Given the description of an element on the screen output the (x, y) to click on. 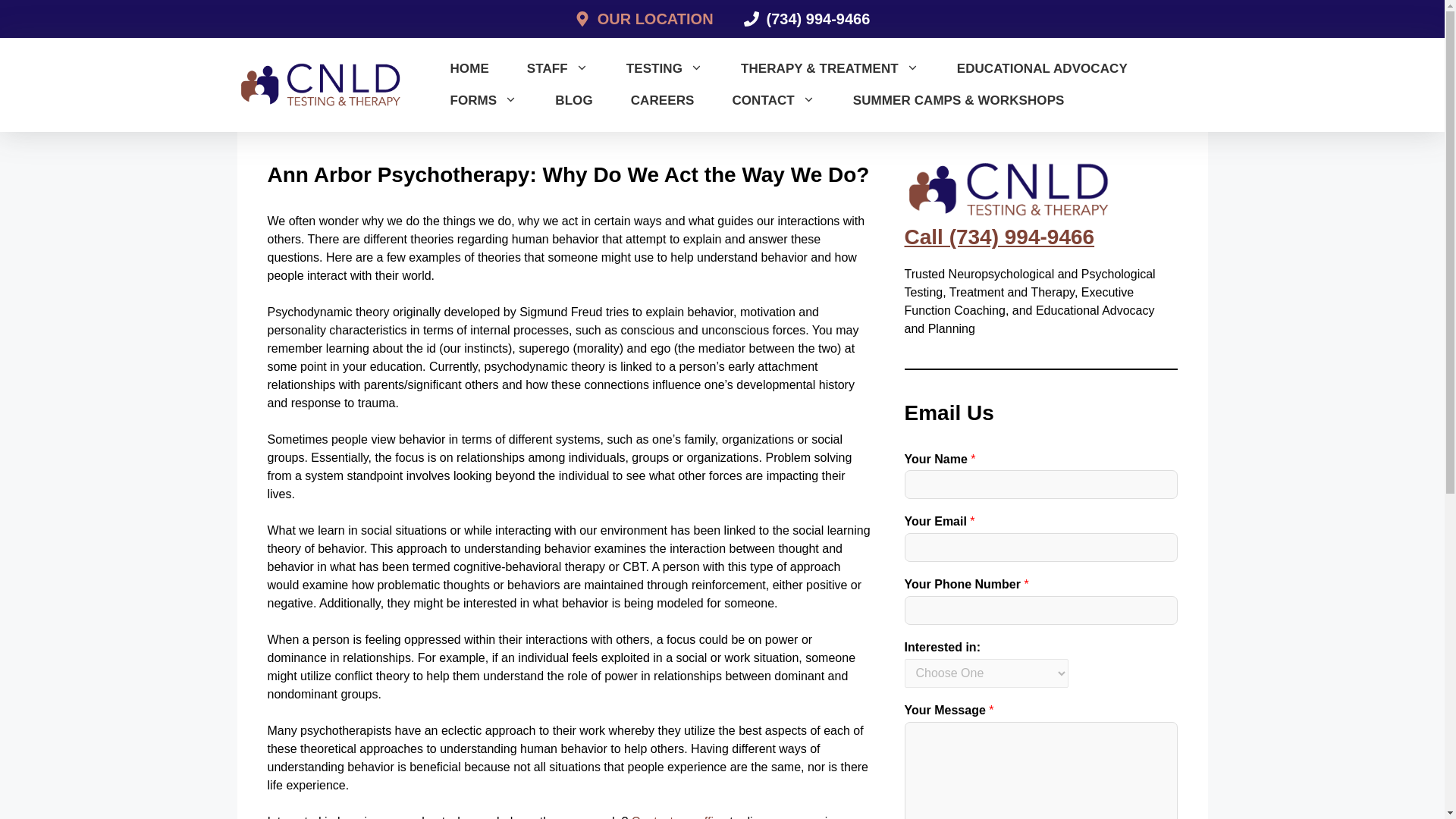
STAFF (557, 69)
HOME (468, 69)
TESTING (664, 69)
OUR LOCATION (652, 18)
